Given the description of an element on the screen output the (x, y) to click on. 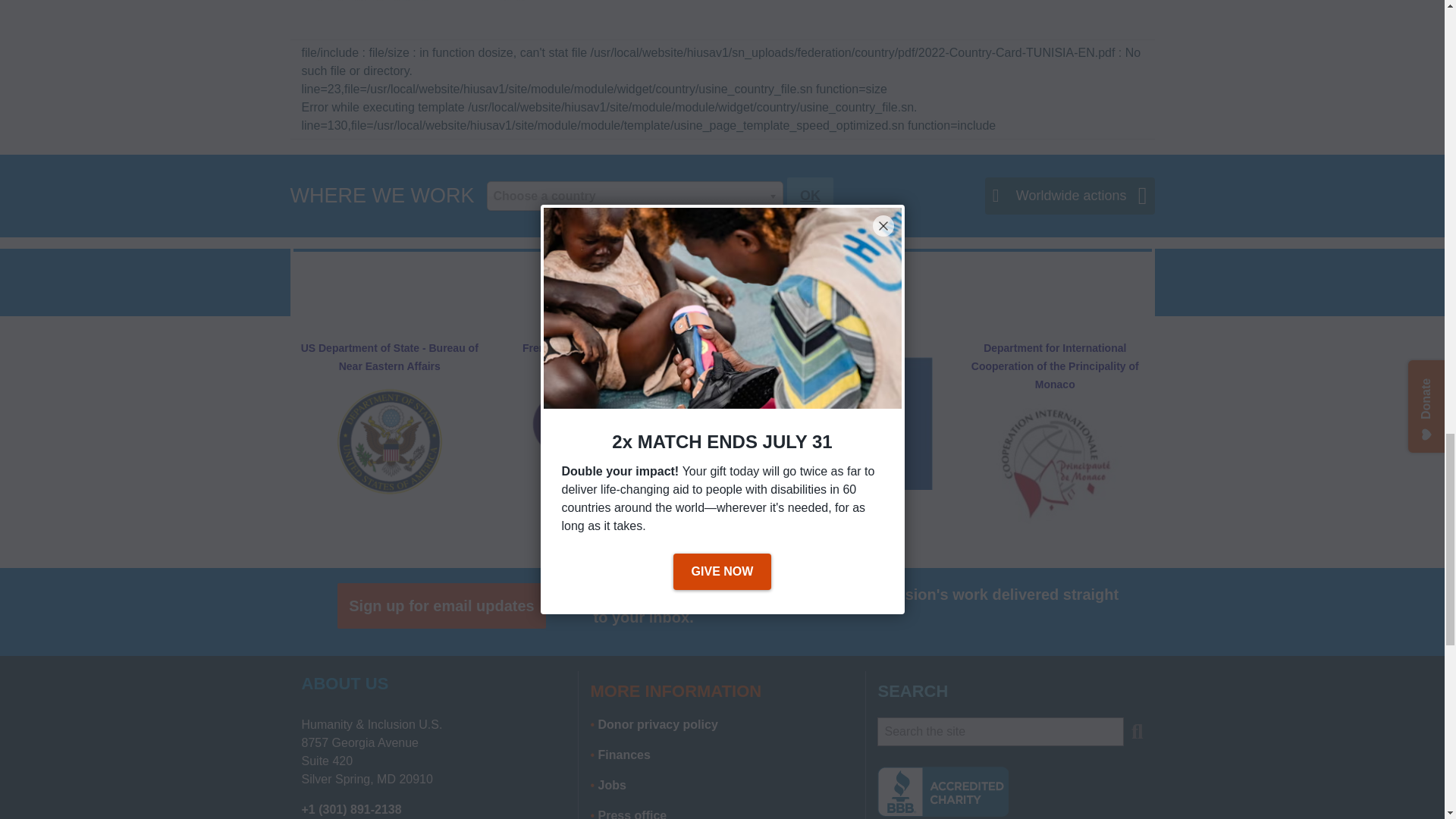
European Union (833, 423)
